Given the description of an element on the screen output the (x, y) to click on. 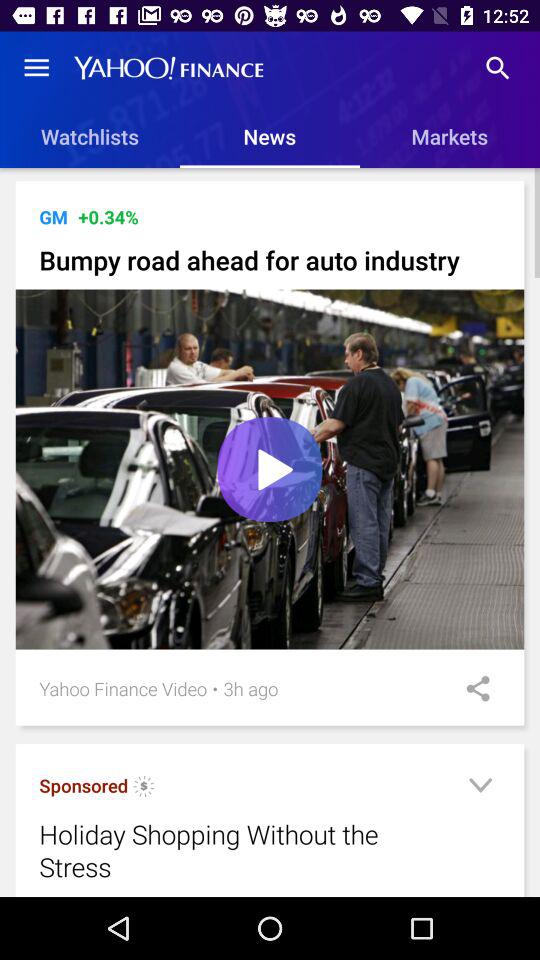
tap icon next to the holiday shopping without icon (480, 788)
